Given the description of an element on the screen output the (x, y) to click on. 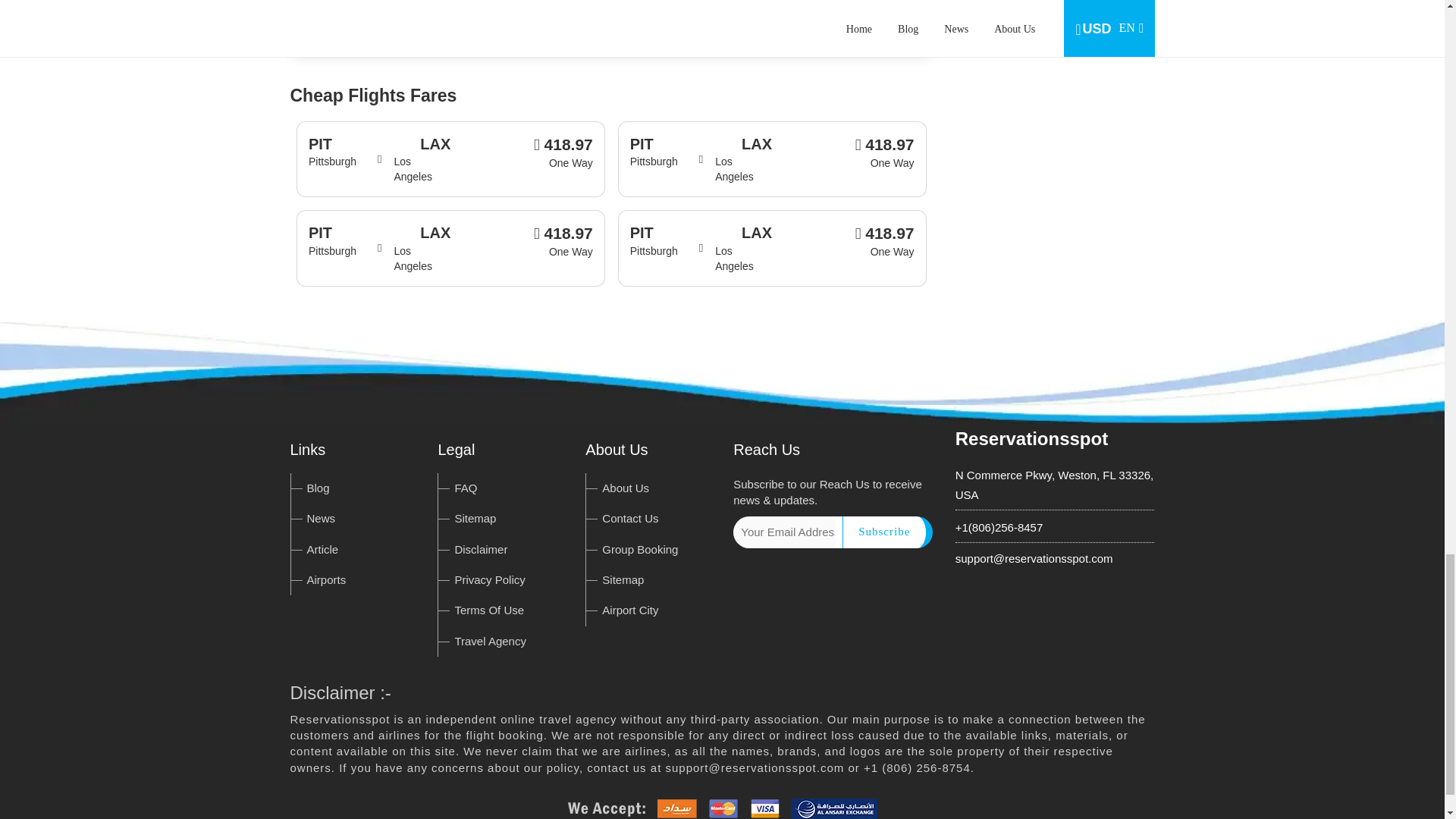
News (319, 517)
About Us (625, 487)
Terms Of Use (489, 609)
Group Booking (640, 549)
Airport City (630, 609)
Article (321, 549)
Contact Us (630, 517)
Sitemap (622, 579)
Airports (325, 579)
Blog (317, 487)
Sitemap (475, 517)
Travel Agency (489, 640)
Disclaimer (480, 549)
Privacy Policy (489, 579)
FAQ (465, 487)
